Given the description of an element on the screen output the (x, y) to click on. 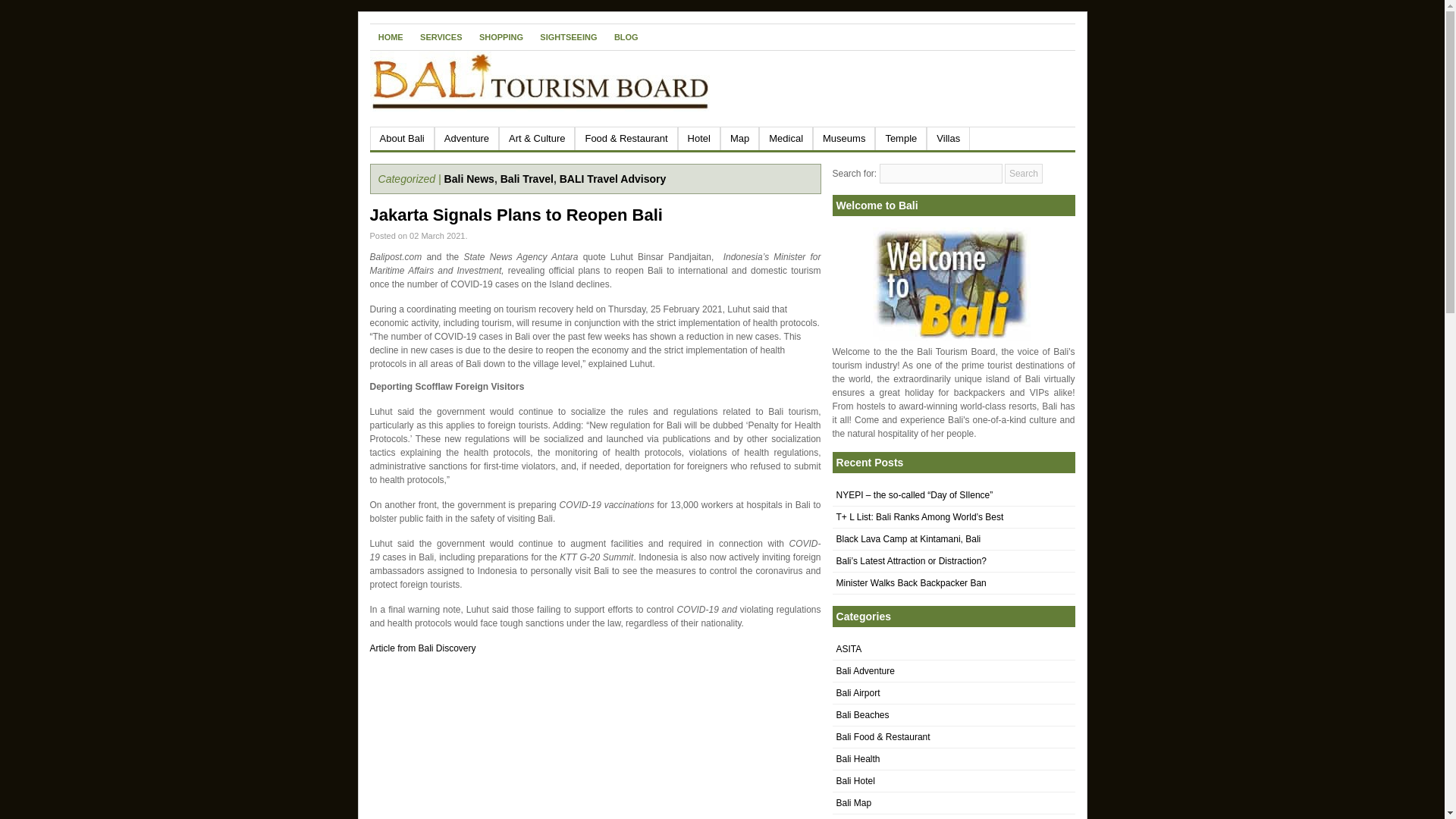
Bali Travel (526, 178)
Bali Health (857, 758)
Bali Adventure (864, 670)
SERVICES (441, 36)
Article from Bali Discovery (422, 647)
Black Lava Camp at Kintamani, Bali (907, 538)
Bali Airport (857, 692)
Bali Map (852, 802)
Search (1023, 173)
Villas (947, 138)
Search (1023, 173)
Bali Tourism Board (950, 284)
Map (739, 138)
Museums (843, 138)
Minister Walks Back Backpacker Ban (910, 583)
